Given the description of an element on the screen output the (x, y) to click on. 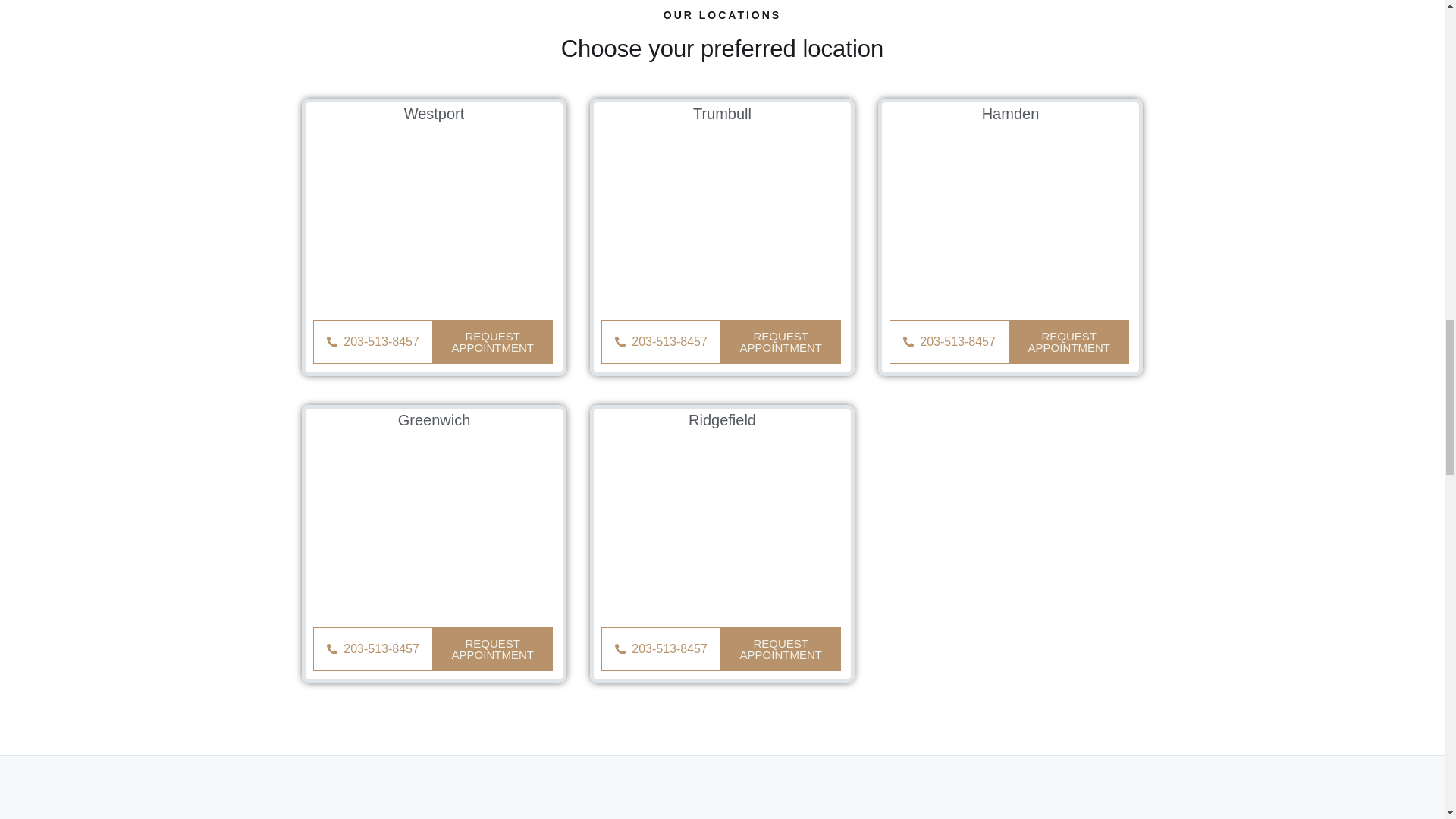
DOLCE VIDA MEDSPA, HAMDEN (1011, 220)
DOLCE VIDA MEDSPA, TRUMBULL (722, 220)
Dolce vida 151 Greenwich Ave 2nd Floor (434, 526)
DOLCE VIDA MEDSPA, WESTPORT (434, 220)
Dolce vida medspa Ridgefield (722, 526)
